Given the description of an element on the screen output the (x, y) to click on. 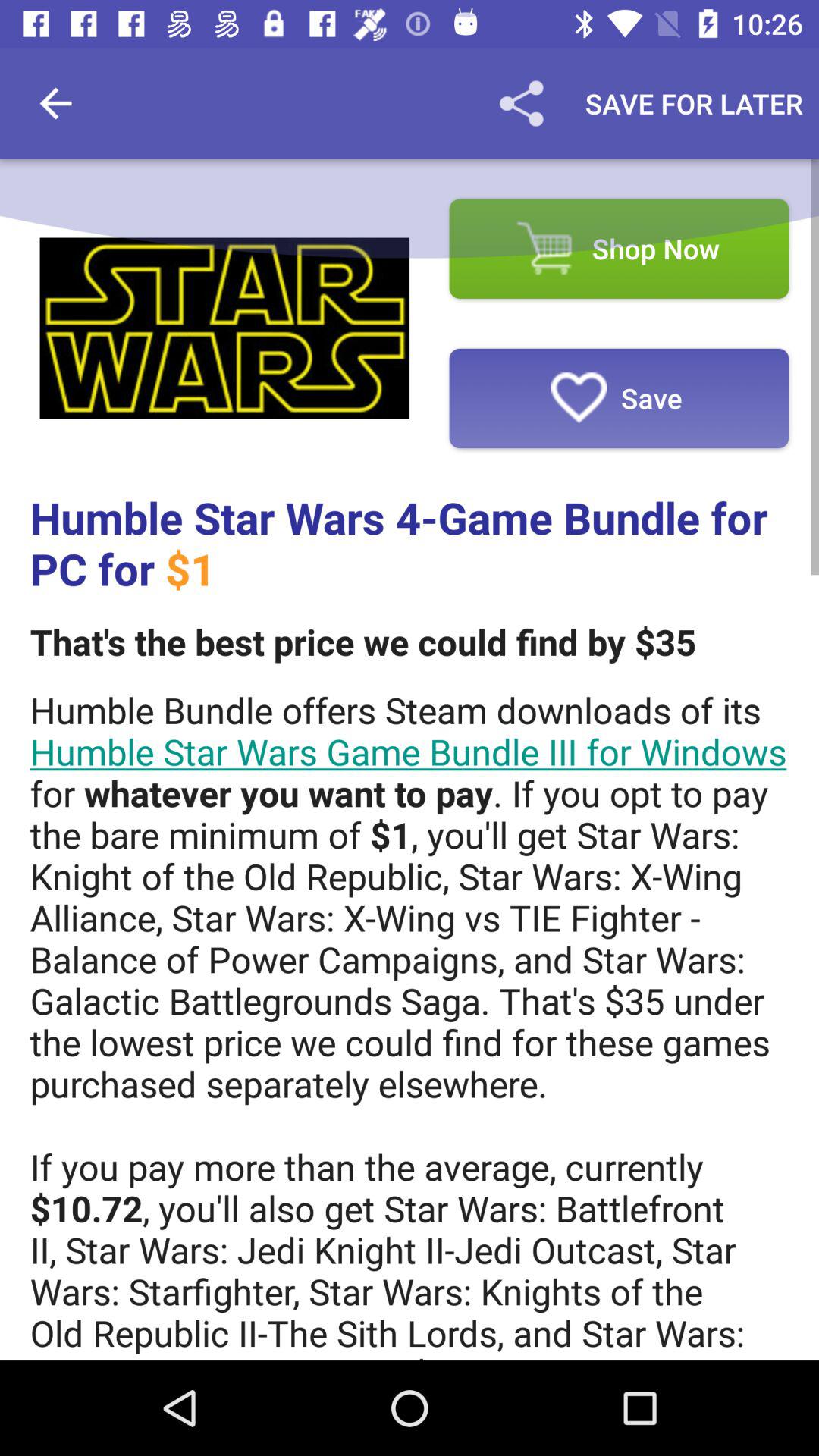
turn on the item above the humble star wars icon (224, 328)
